Given the description of an element on the screen output the (x, y) to click on. 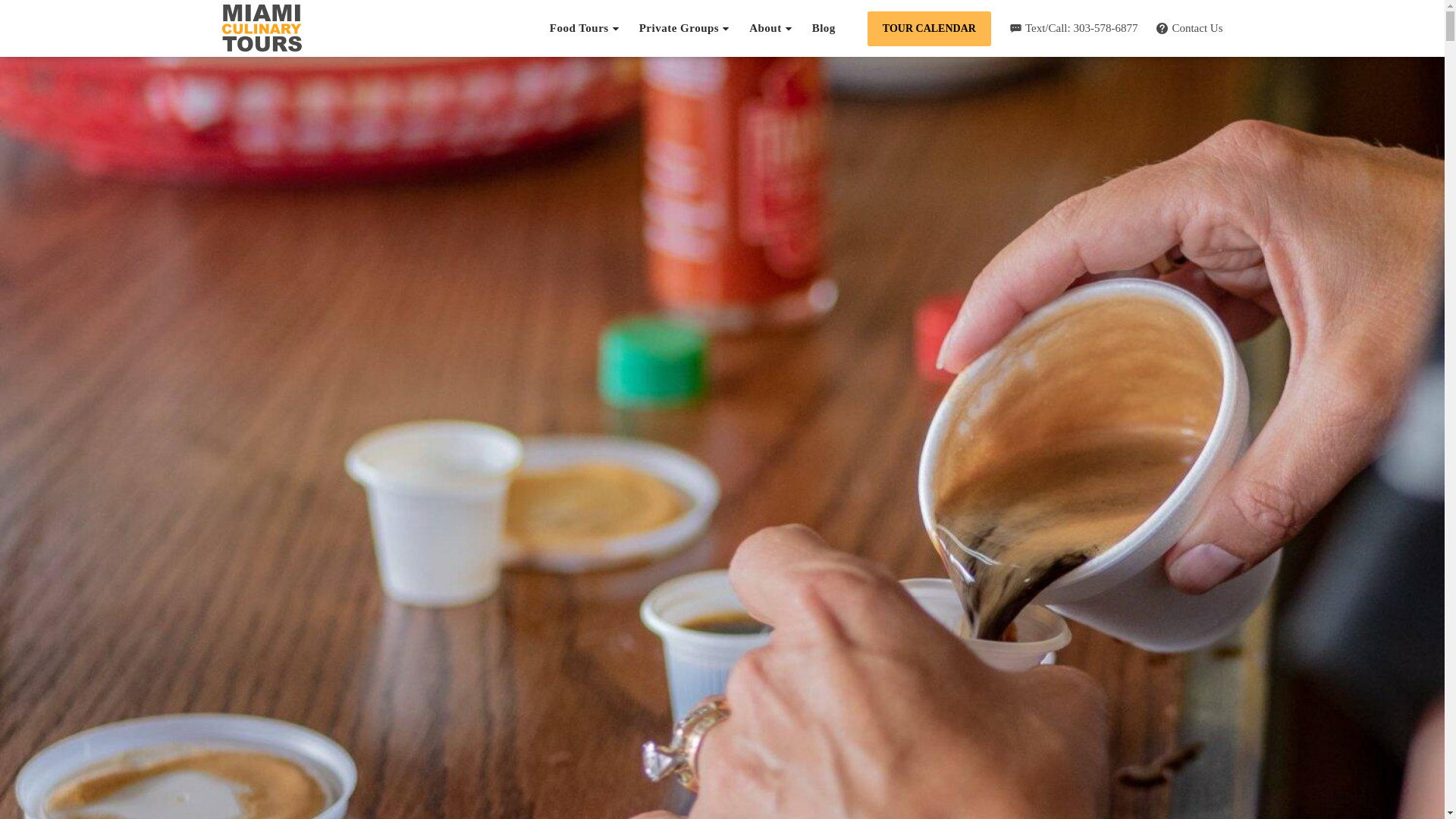
Private Groups (684, 28)
Contact Us (1189, 28)
Blog (823, 28)
About (771, 28)
TOUR CALENDAR (929, 27)
Food Tours (585, 28)
